Given the description of an element on the screen output the (x, y) to click on. 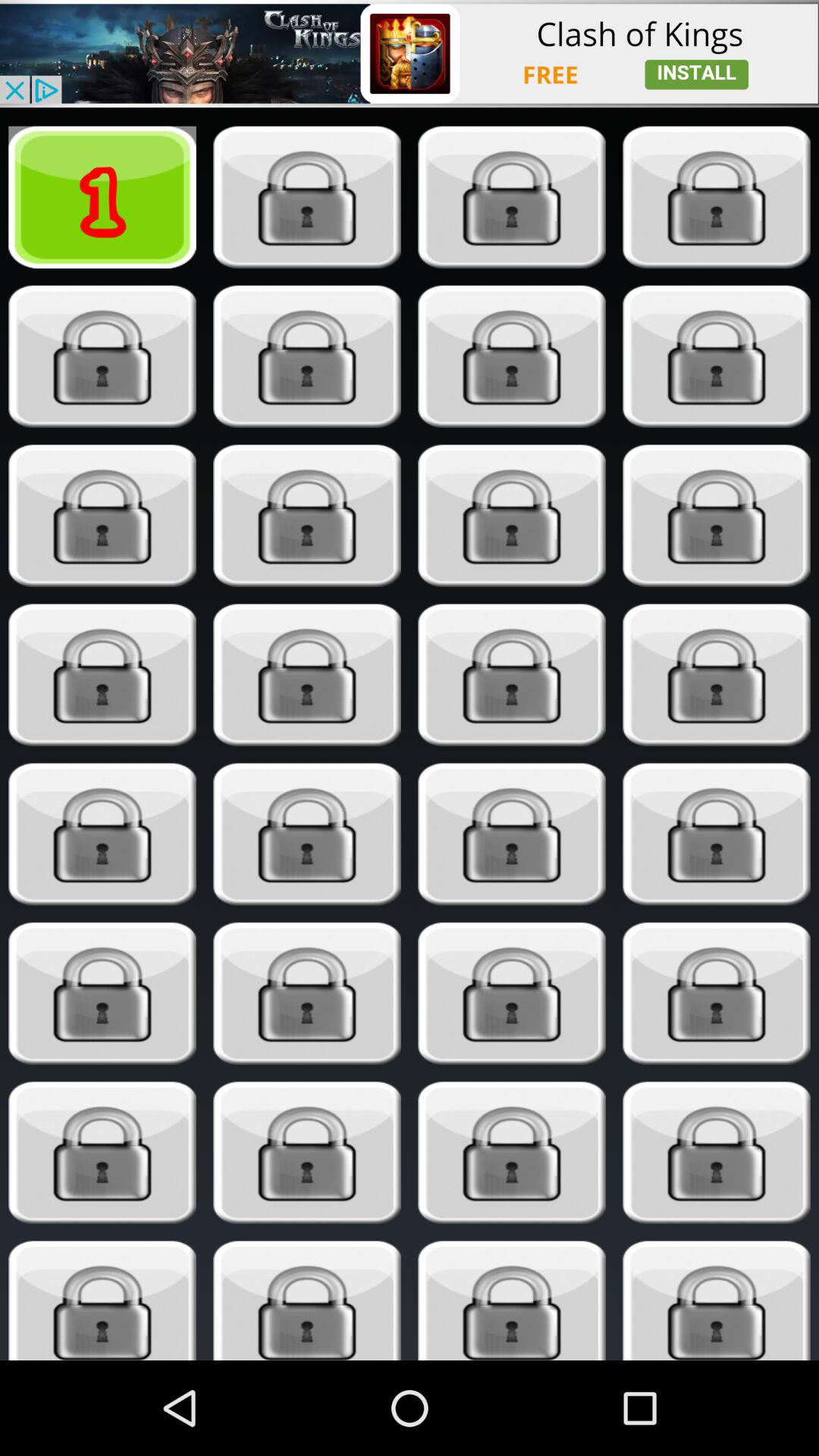
open locked app (716, 834)
